Given the description of an element on the screen output the (x, y) to click on. 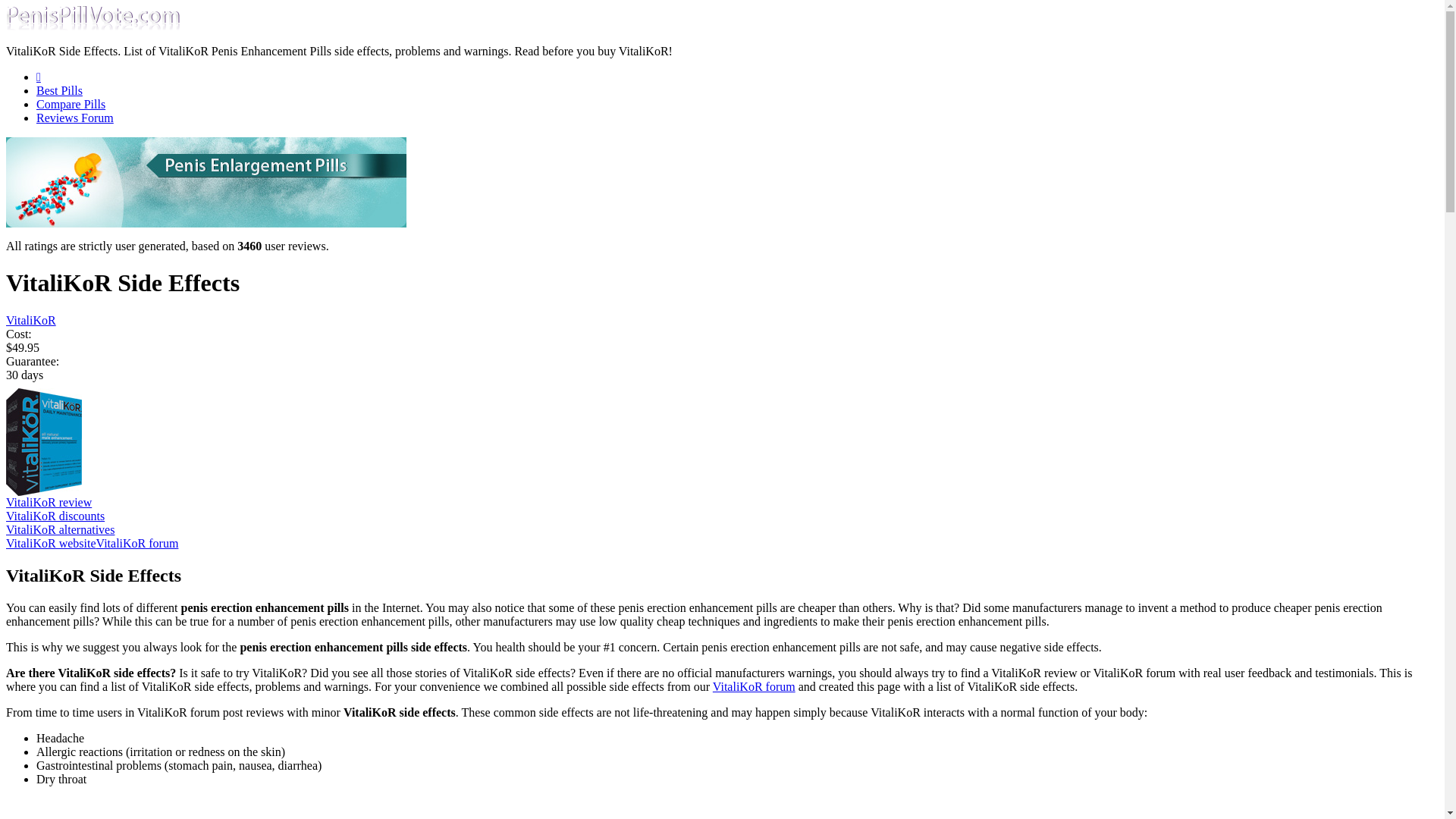
Compare Pills (70, 103)
VitaliKoR review (48, 502)
VitaliKoR alternatives (60, 529)
Reviews Forum (74, 117)
Best Pills (59, 90)
VitaliKoR (30, 319)
VitaliKoR forum (137, 543)
VitaliKoR website (50, 543)
VitaliKoR discounts (54, 515)
VitaliKoR forum (753, 686)
